Given the description of an element on the screen output the (x, y) to click on. 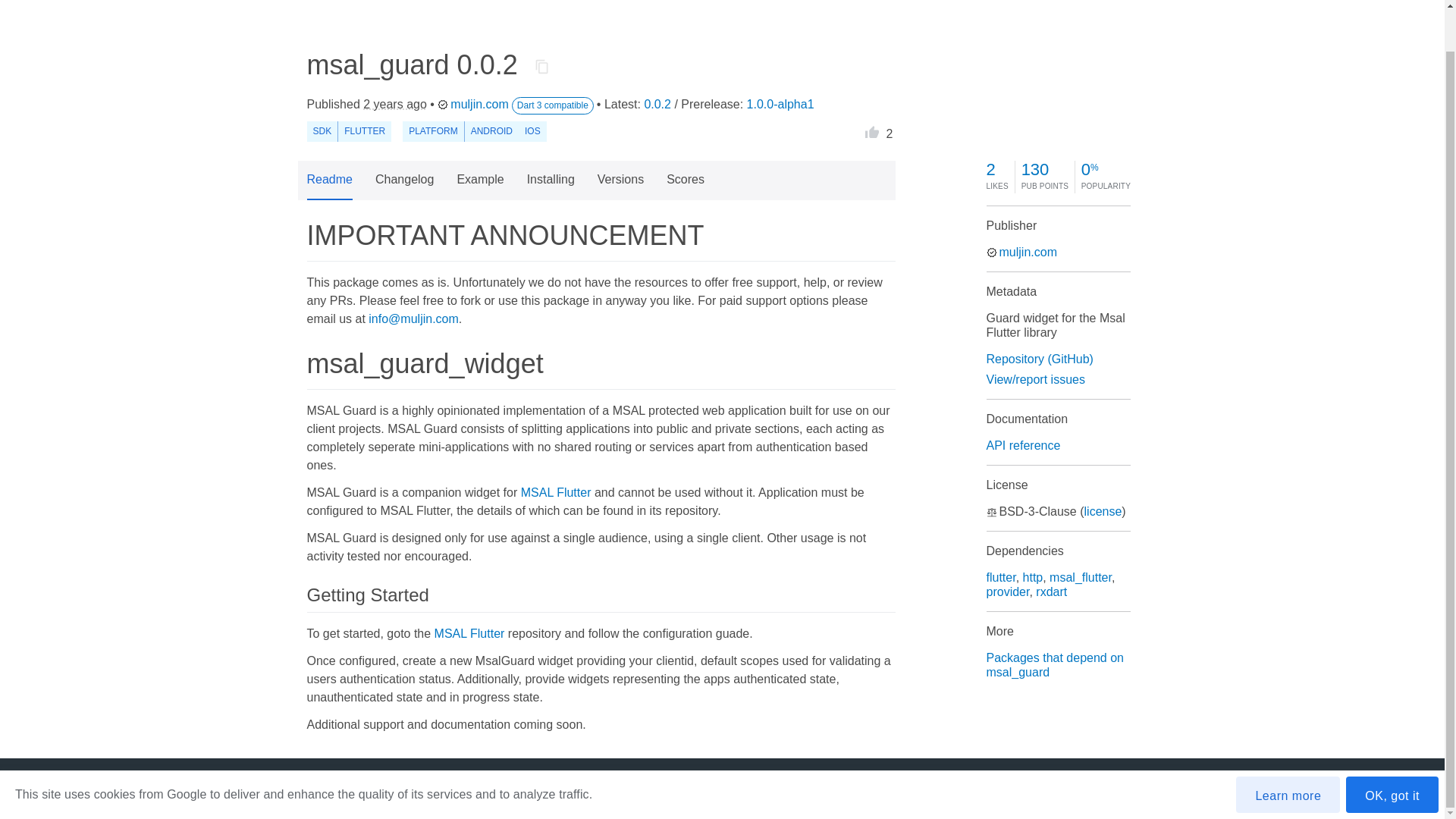
FLUTTER (364, 131)
MSAL Flutter (556, 492)
Published by a pub.dev verified publisher (443, 104)
Jun 10, 2022 (394, 103)
Like this package (871, 129)
2 years ago (394, 103)
OK, got it (1391, 751)
Packages compatible with Android platform (491, 131)
Scores (685, 179)
Package is compatible with Dart 3. (553, 105)
